Given the description of an element on the screen output the (x, y) to click on. 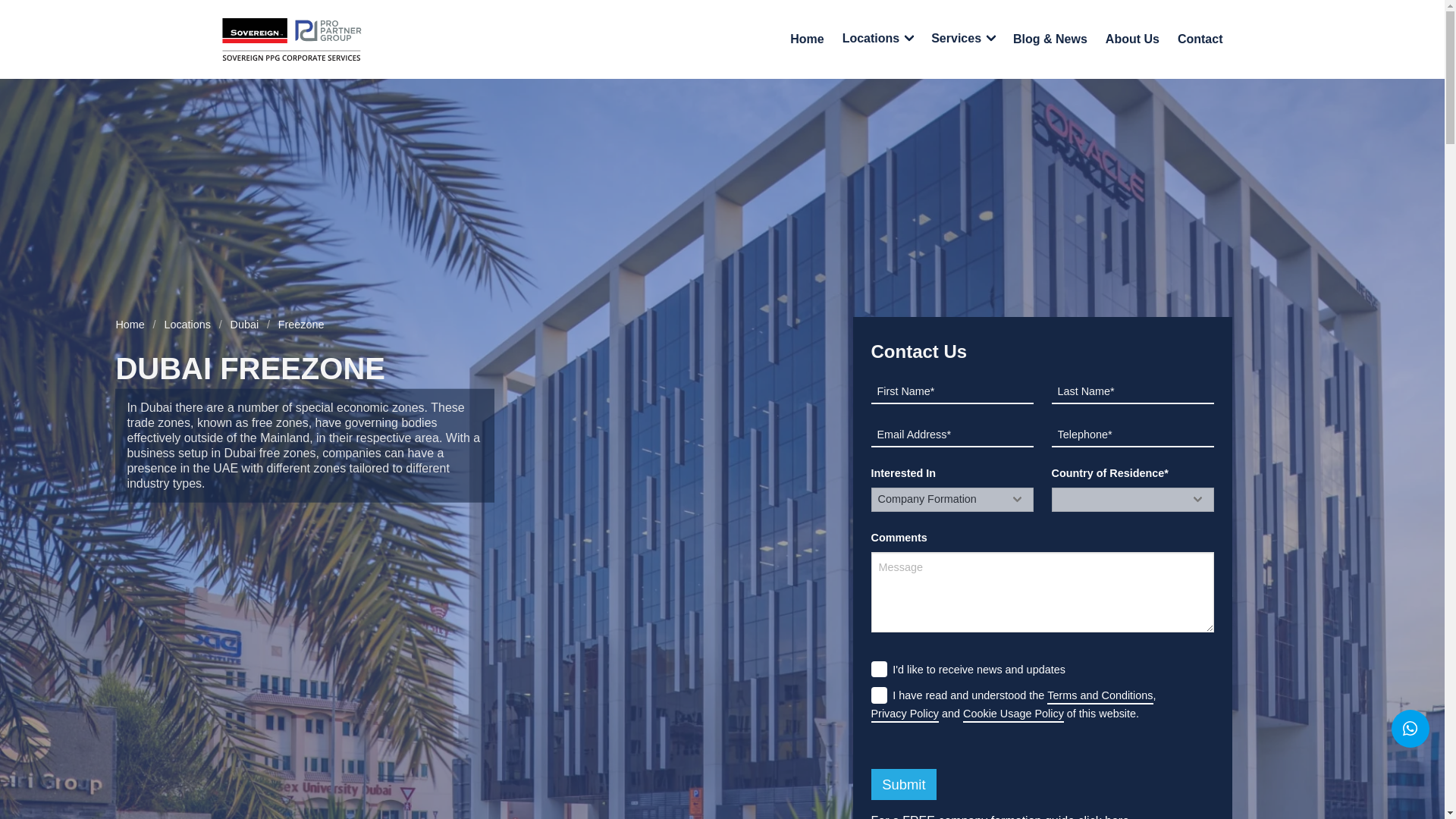
Submit (903, 784)
Contact (1200, 39)
First Name (951, 392)
Home (133, 324)
Submit (903, 784)
Cookie Usage Policy (1013, 714)
Services (962, 38)
Home (806, 39)
Locations (187, 324)
Terms and Conditions (1099, 696)
